Given the description of an element on the screen output the (x, y) to click on. 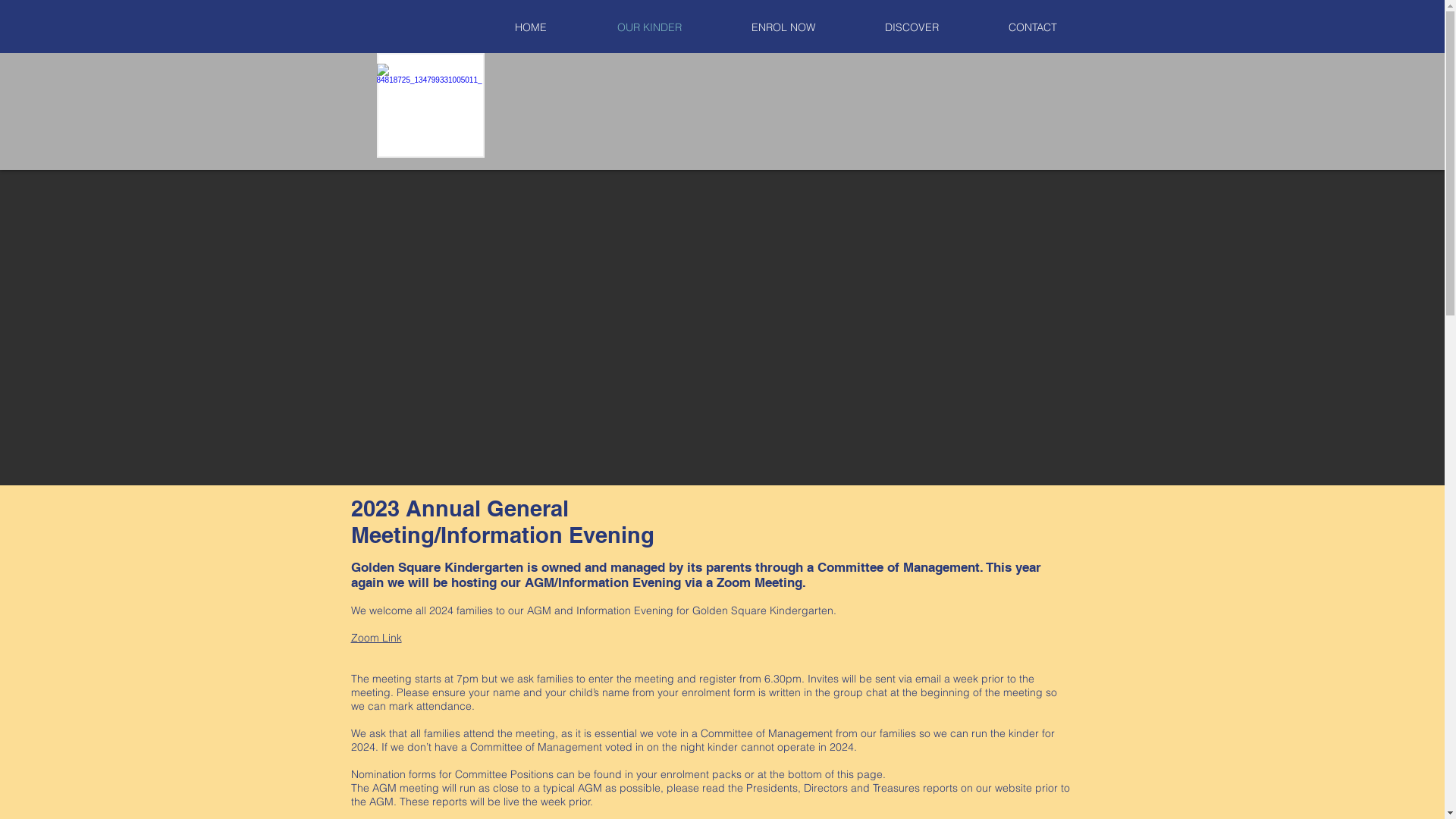
OUR KINDER Element type: text (649, 27)
CONTACT Element type: text (1032, 27)
HOME Element type: text (530, 27)
Zoom Link Element type: text (375, 637)
ENROL NOW Element type: text (782, 27)
DISCOVER Element type: text (910, 27)
